Given the description of an element on the screen output the (x, y) to click on. 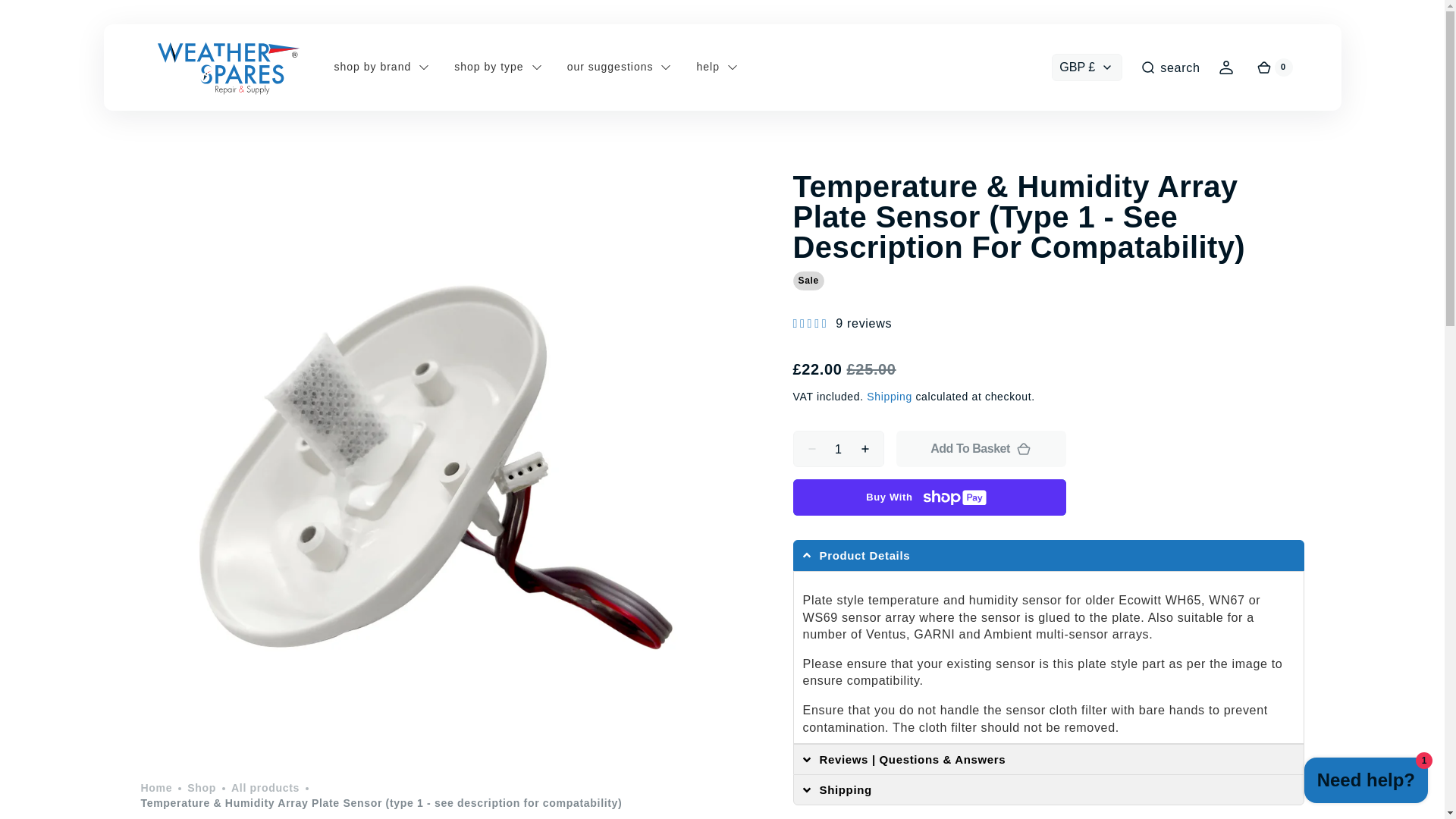
Shopify online store chat (1366, 781)
Home (155, 788)
Skip To Content (37, 18)
